Given the description of an element on the screen output the (x, y) to click on. 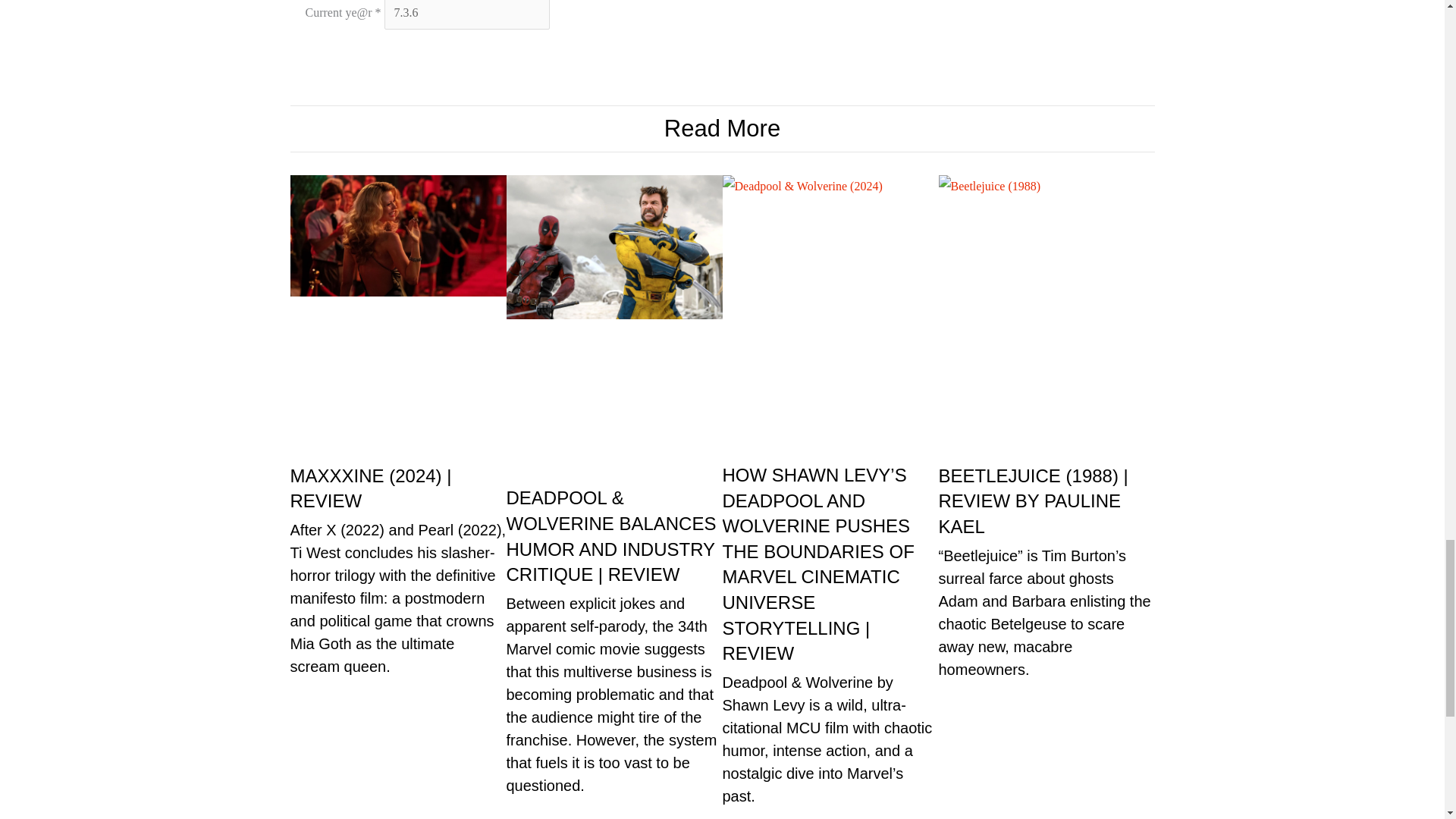
7.3.6 (467, 14)
